Given the description of an element on the screen output the (x, y) to click on. 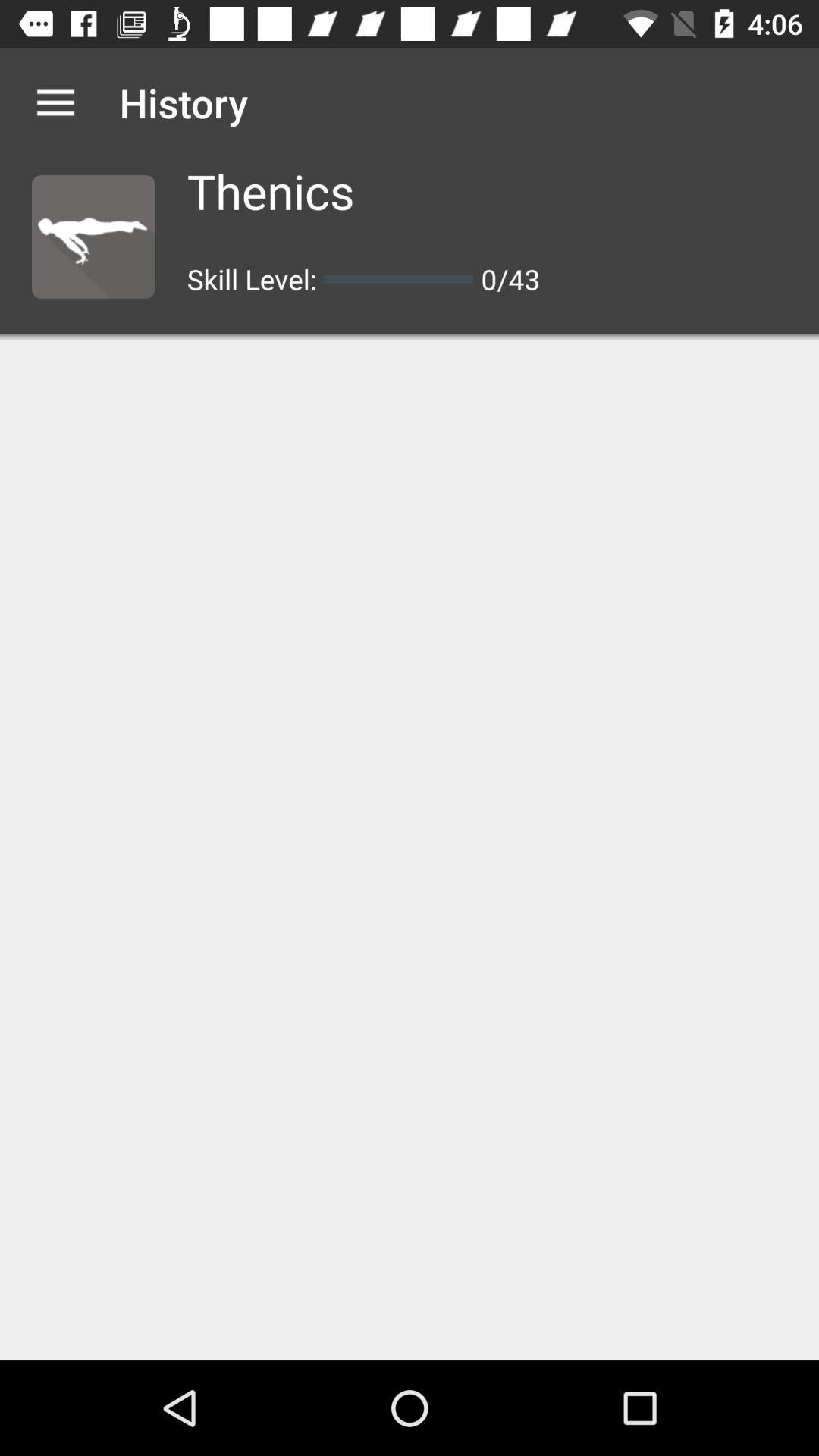
click the item at the center (409, 850)
